Given the description of an element on the screen output the (x, y) to click on. 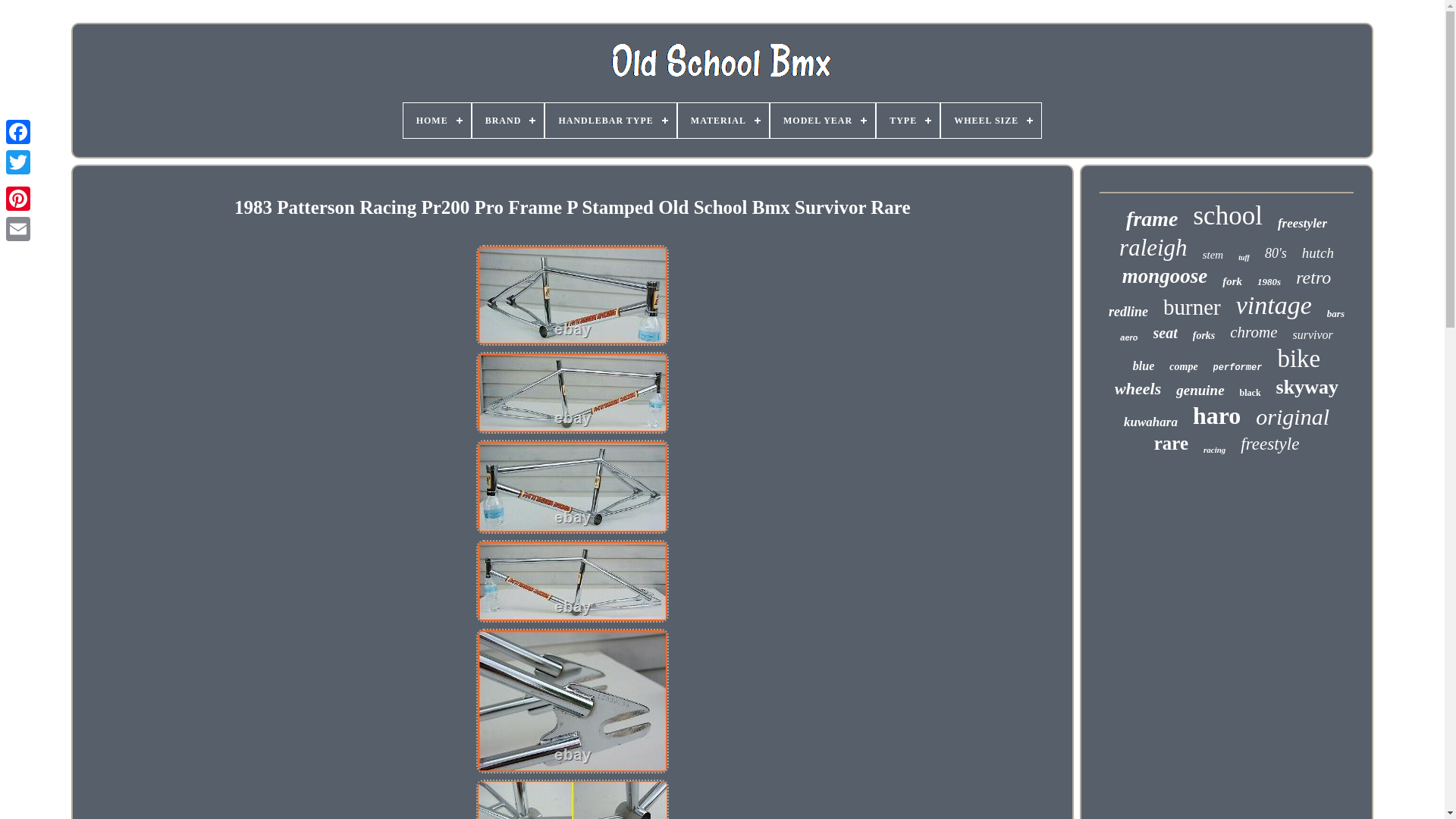
MATERIAL (723, 120)
HANDLEBAR TYPE (609, 120)
HOME (436, 120)
BRAND (507, 120)
